Given the description of an element on the screen output the (x, y) to click on. 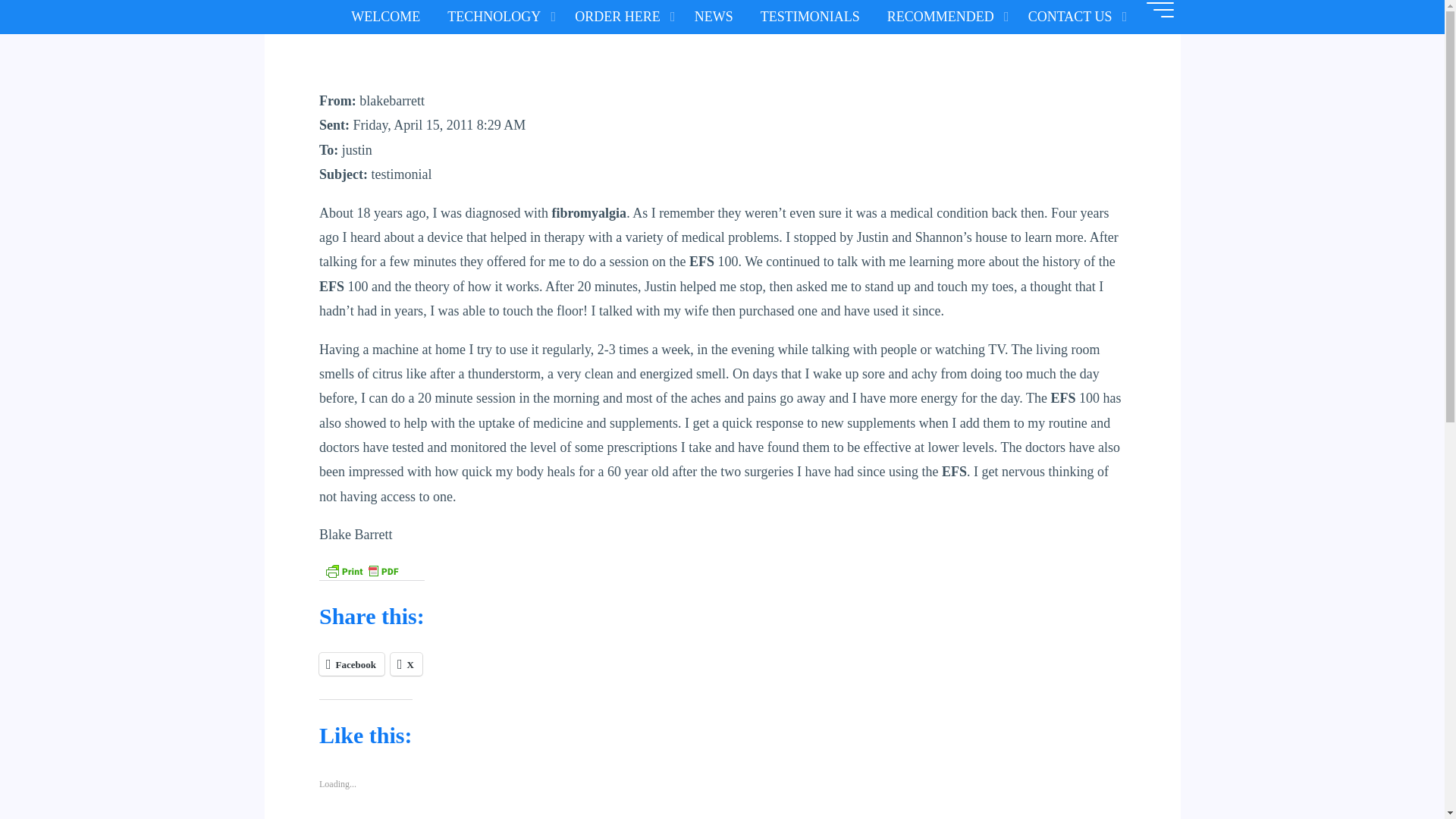
NEWS (713, 17)
Click to share on Facebook (351, 663)
TESTIMONIALS (809, 17)
START YOUR ORDER (620, 17)
RECOMMENDED (943, 17)
ORDER HERE (620, 17)
HOME PAGE (385, 17)
Click to share on X (406, 663)
CONTACT US (1073, 17)
WELCOME (385, 17)
